Given the description of an element on the screen output the (x, y) to click on. 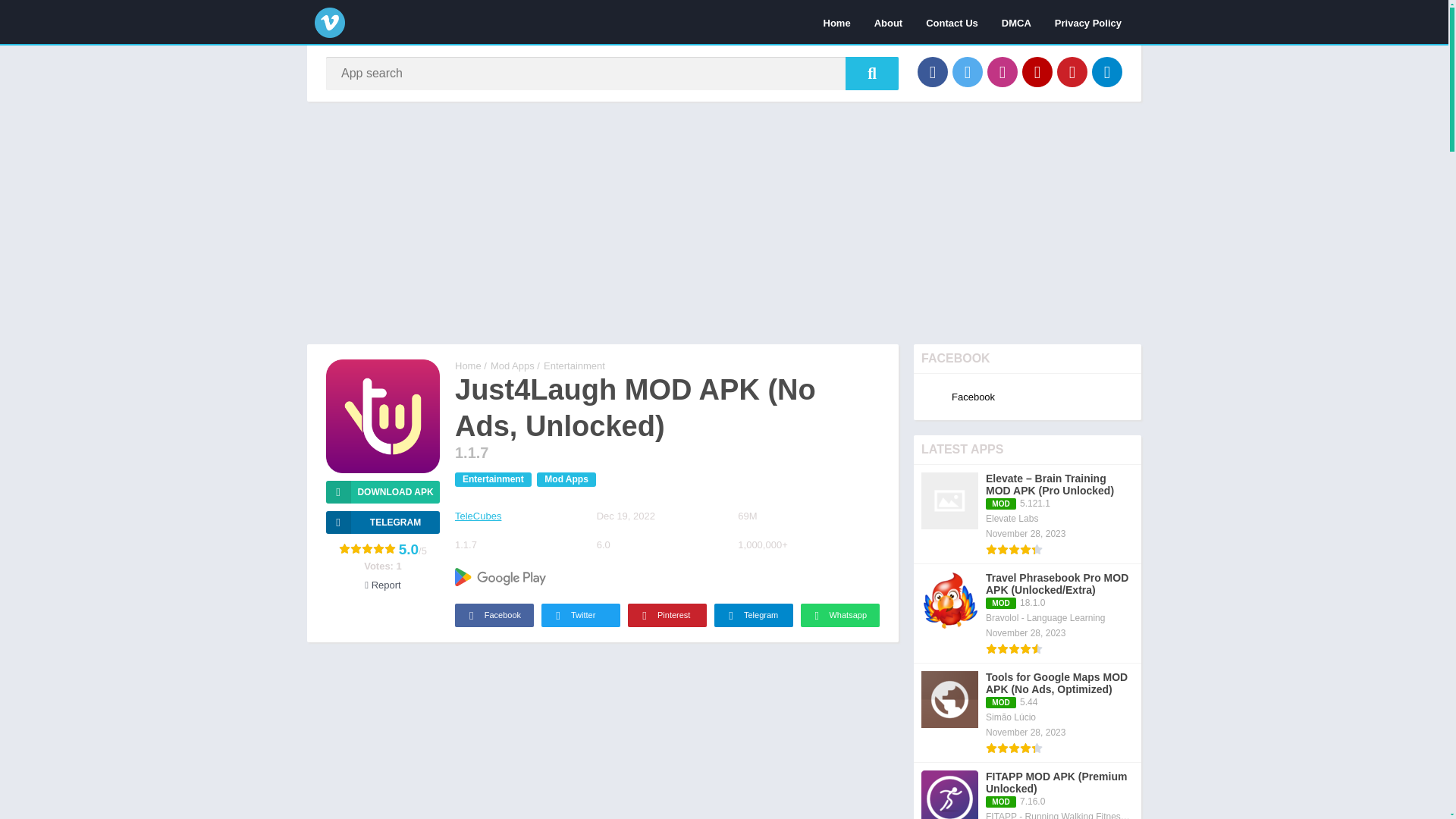
About (888, 22)
Home (836, 22)
Entertainment (492, 479)
VidsLoader (467, 365)
Telegram (1107, 71)
TELEGRAM (382, 522)
Advertisement (602, 738)
Twitter (580, 615)
Home (467, 365)
Privacy Policy (1087, 22)
